Given the description of an element on the screen output the (x, y) to click on. 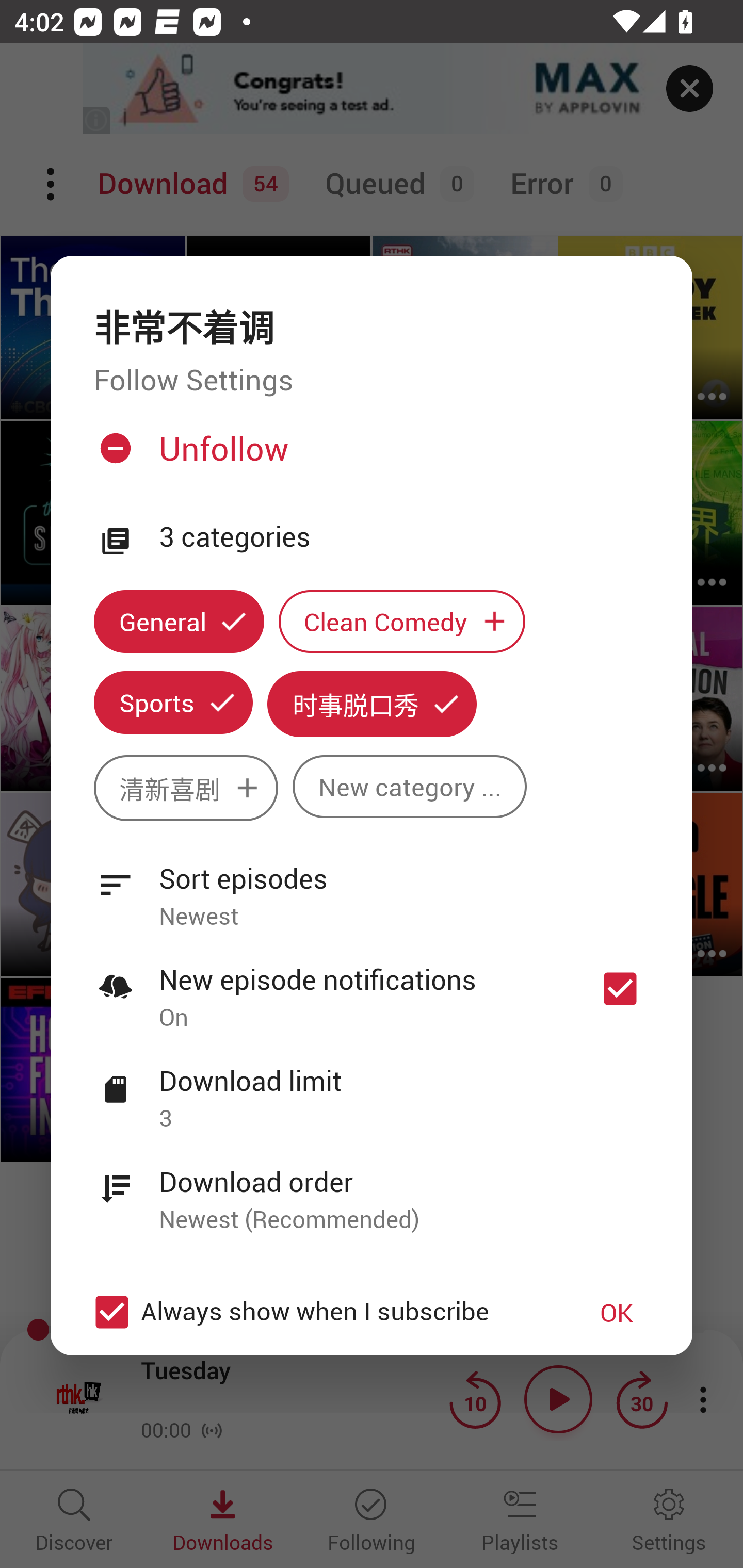
Unfollow (369, 456)
3 categories (404, 537)
General (178, 620)
Clean Comedy (401, 620)
Sports (172, 702)
时事脱口秀 (372, 703)
清新喜剧 (185, 788)
New category ... (409, 786)
Sort episodes Newest (371, 885)
New episode notifications (620, 988)
Download limit 3 (371, 1088)
Download order Newest (Recommended) (371, 1189)
OK (616, 1311)
Always show when I subscribe (320, 1311)
